Given the description of an element on the screen output the (x, y) to click on. 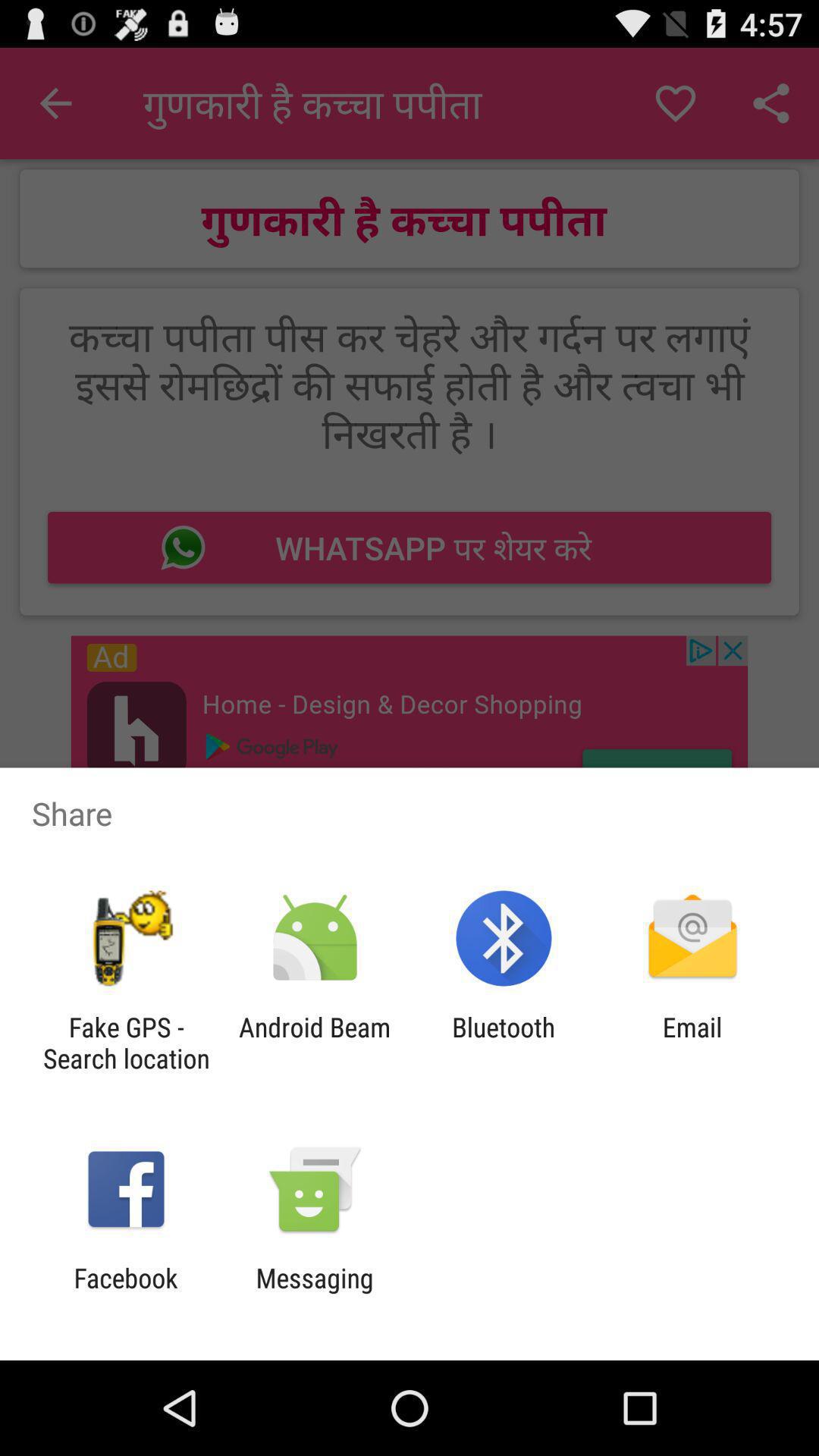
press messaging app (314, 1293)
